Given the description of an element on the screen output the (x, y) to click on. 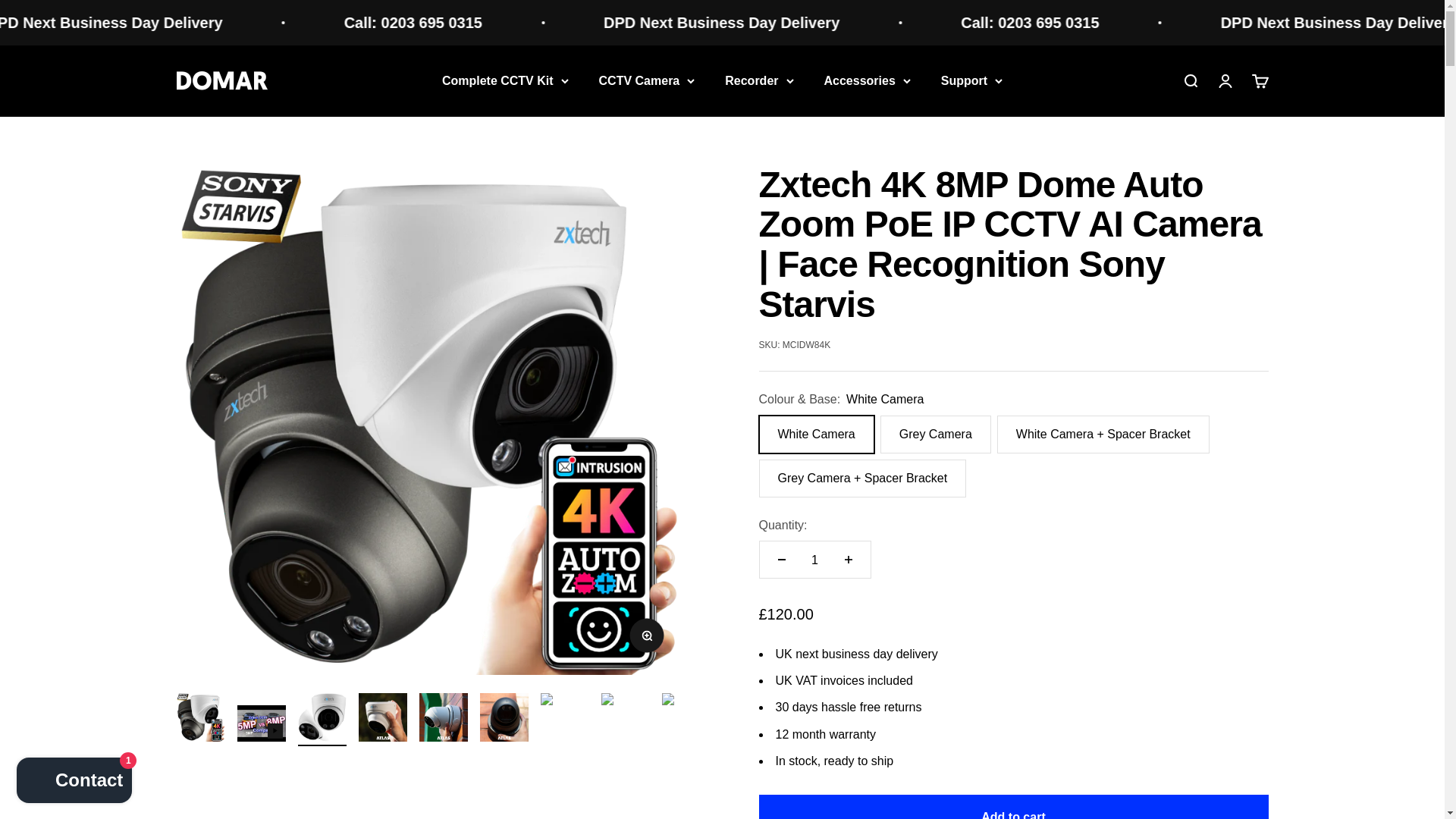
1 (815, 559)
Shopify online store chat (73, 781)
